Given the description of an element on the screen output the (x, y) to click on. 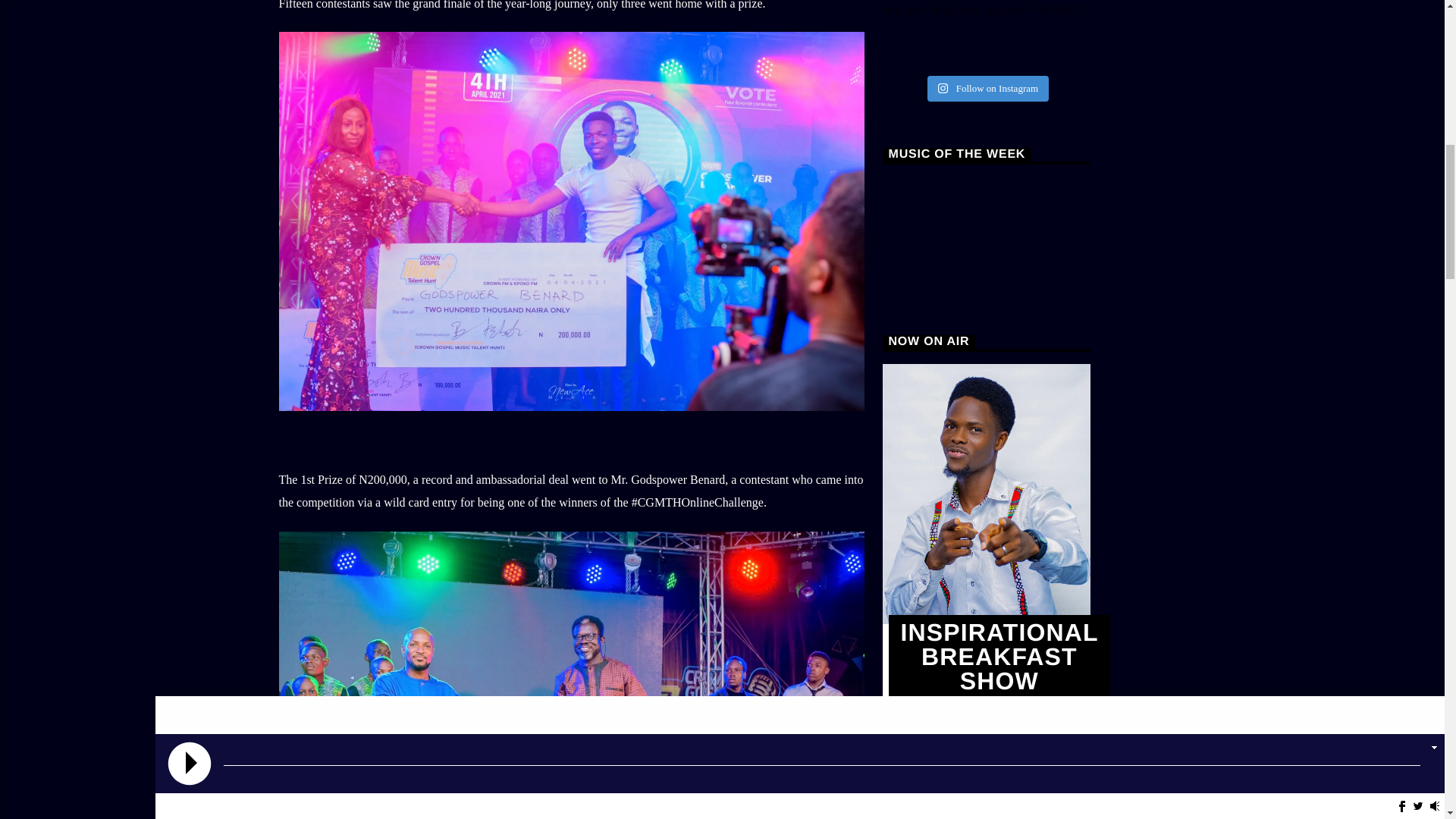
Record of the week - Johnny Drille - How are you my friend (986, 233)
